Given the description of an element on the screen output the (x, y) to click on. 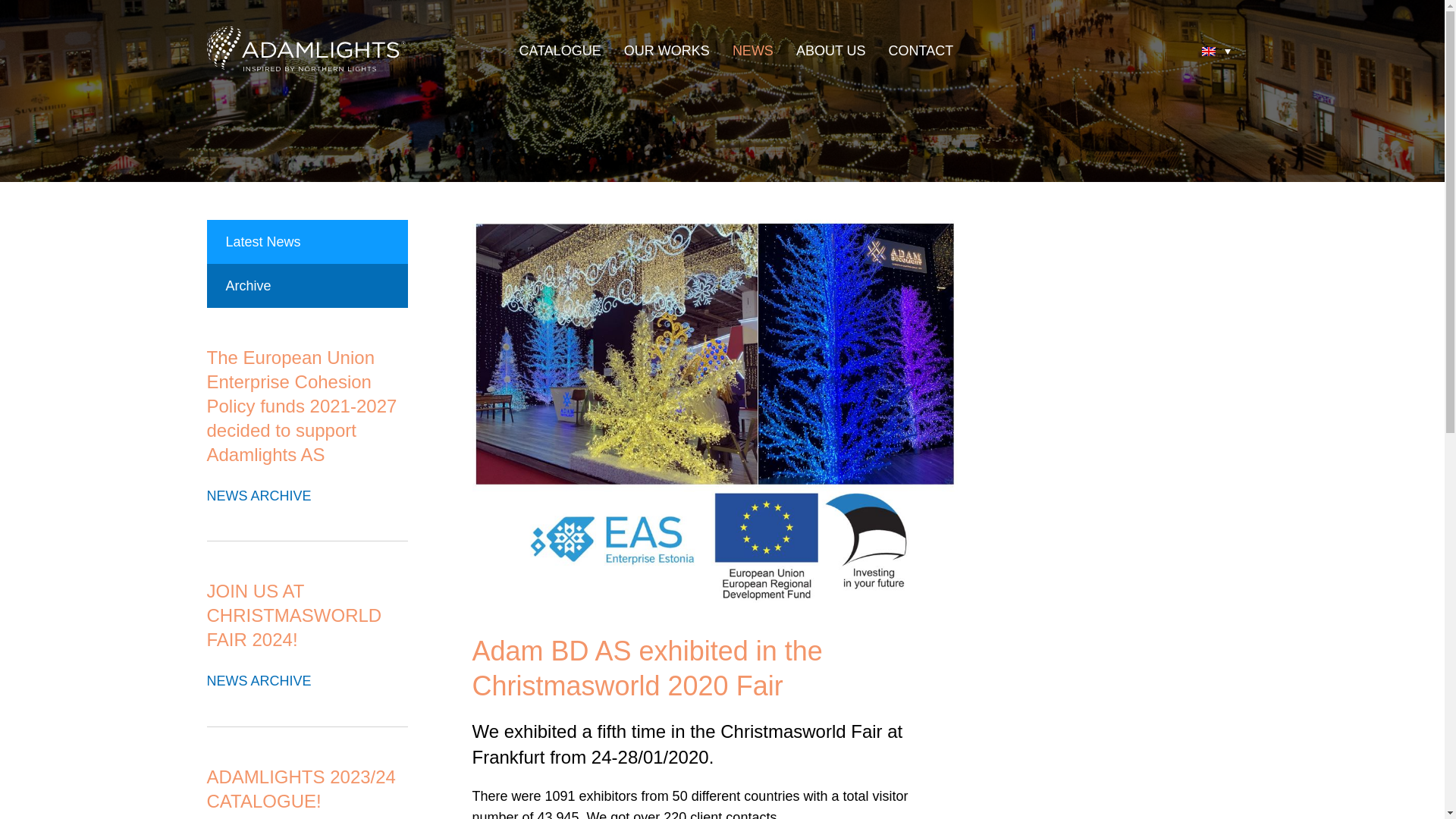
Latest News (306, 241)
Archive (306, 285)
NEWS (752, 49)
OUR WORKS (667, 49)
JOIN US AT CHRISTMASWORLD FAIR 2024! (293, 615)
NEWS ARCHIVE (301, 496)
NEWS ARCHIVE (301, 681)
CONTACT (920, 49)
CATALOGUE (558, 49)
